Given the description of an element on the screen output the (x, y) to click on. 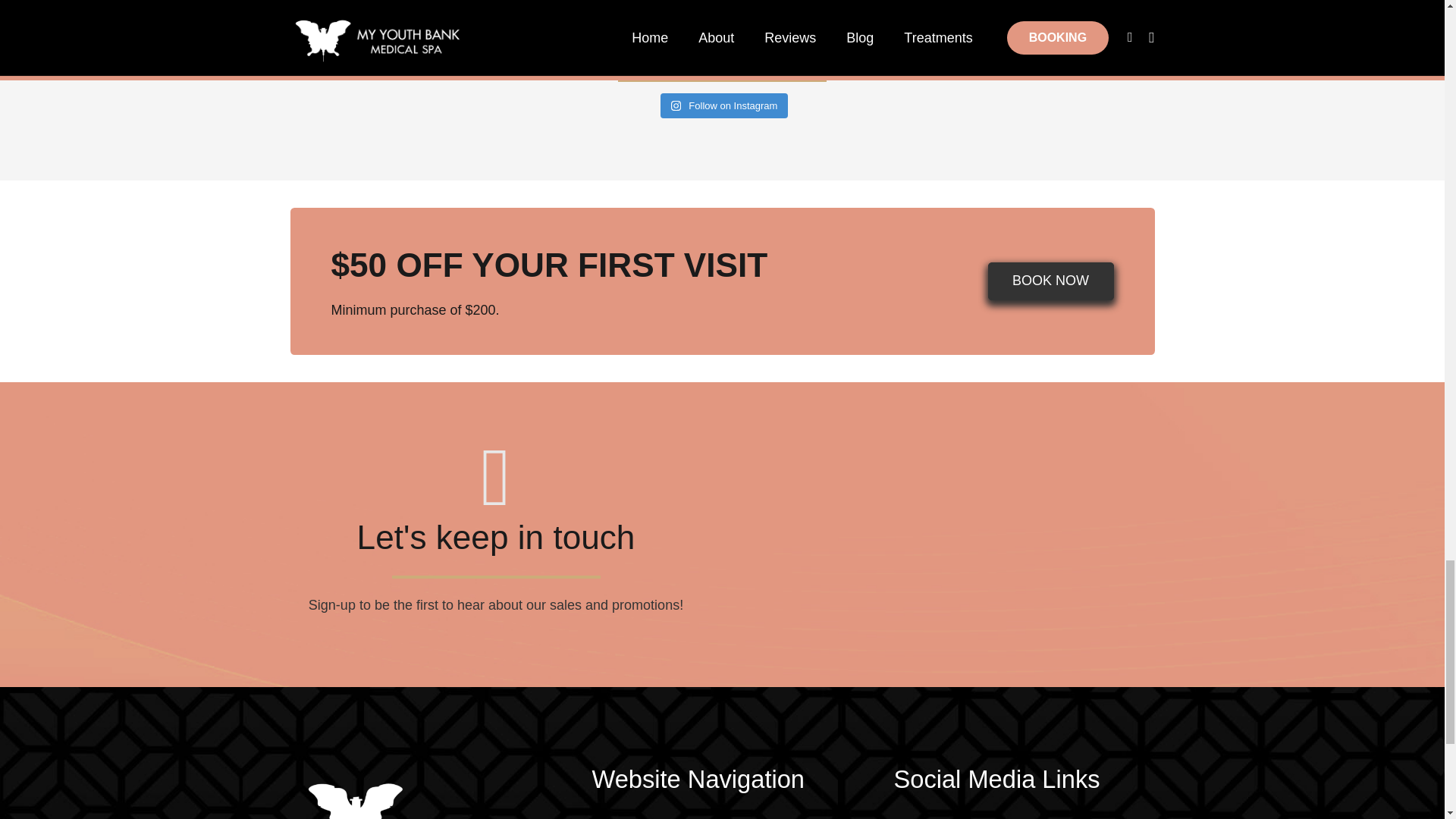
BOOK NOW (1050, 281)
Booking (1050, 281)
Follow on Instagram (725, 105)
